Given the description of an element on the screen output the (x, y) to click on. 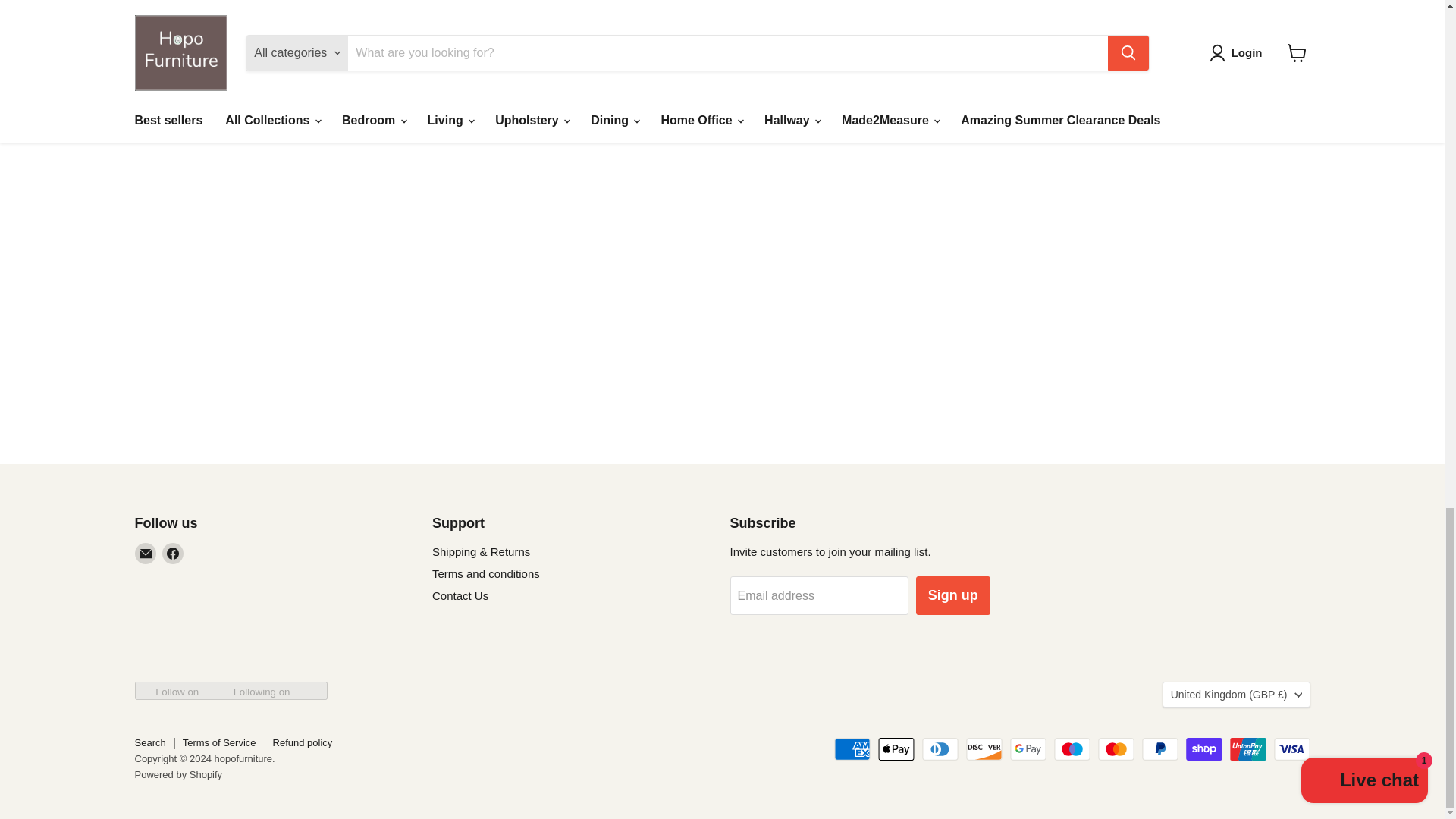
hopofurniture (176, 15)
hopofurniture (414, 15)
hopofurniture (652, 15)
hopofurniture (890, 14)
Facebook (172, 553)
furniture (1117, 15)
Email (145, 553)
